Given the description of an element on the screen output the (x, y) to click on. 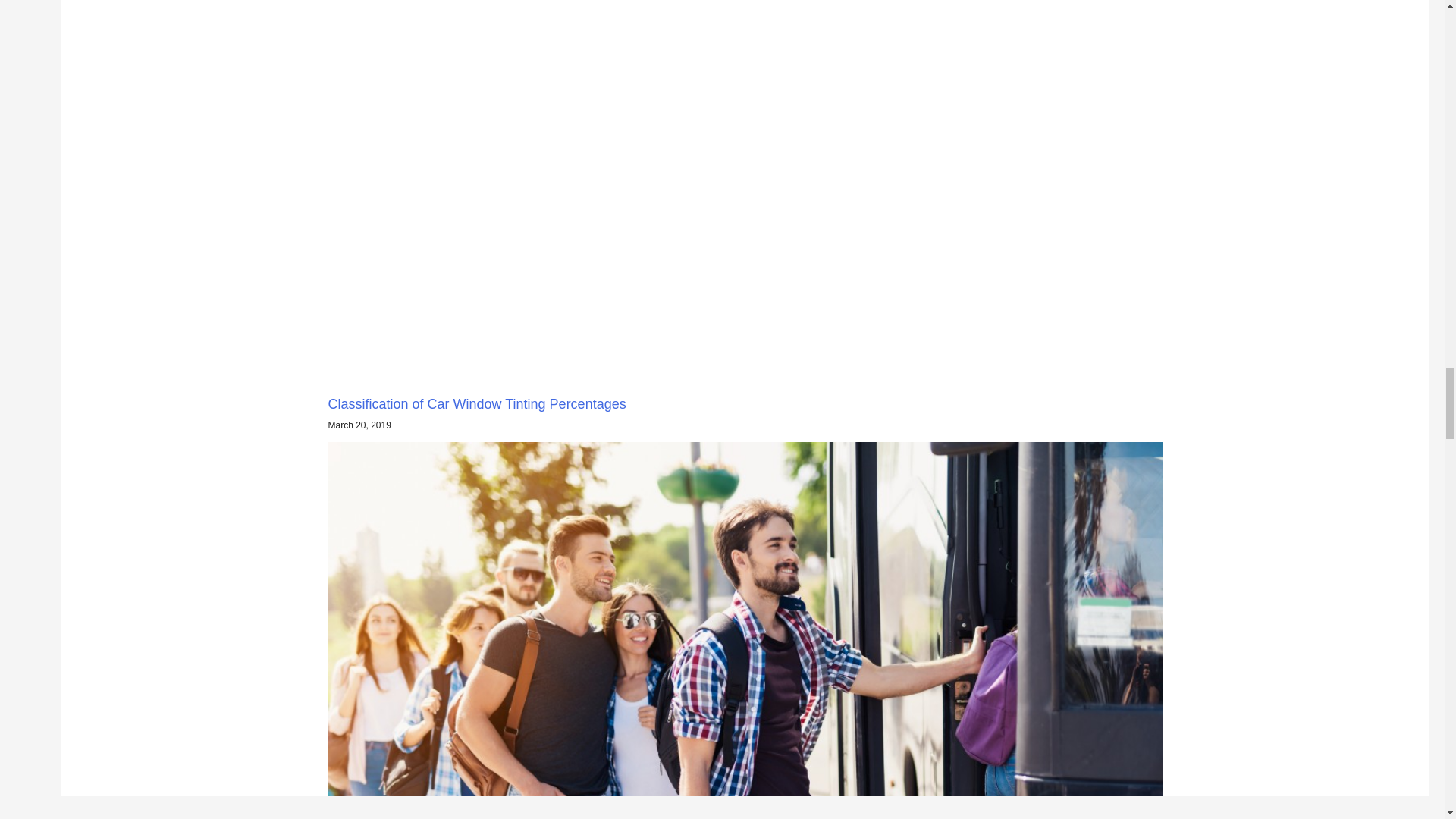
Classification of Car Window Tinting Percentages (476, 403)
